Given the description of an element on the screen output the (x, y) to click on. 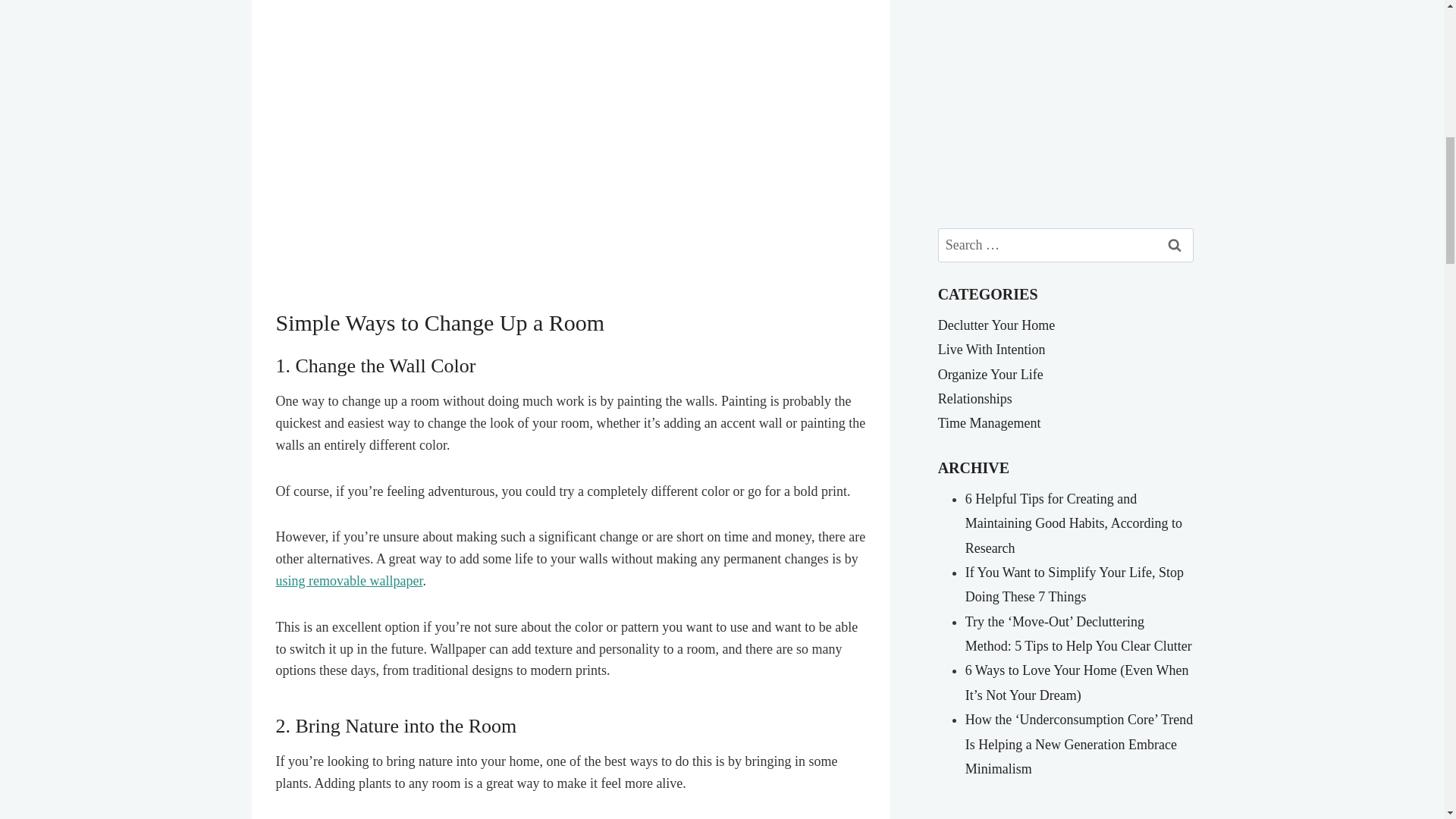
Live With Intention (991, 349)
Declutter Your Home (995, 324)
Search (1174, 245)
Search (1174, 245)
Simplicity Habit Products (1065, 104)
Organize Your Life (990, 374)
Time Management (989, 422)
Relationships (974, 398)
using removable wallpaper (349, 580)
